Given the description of an element on the screen output the (x, y) to click on. 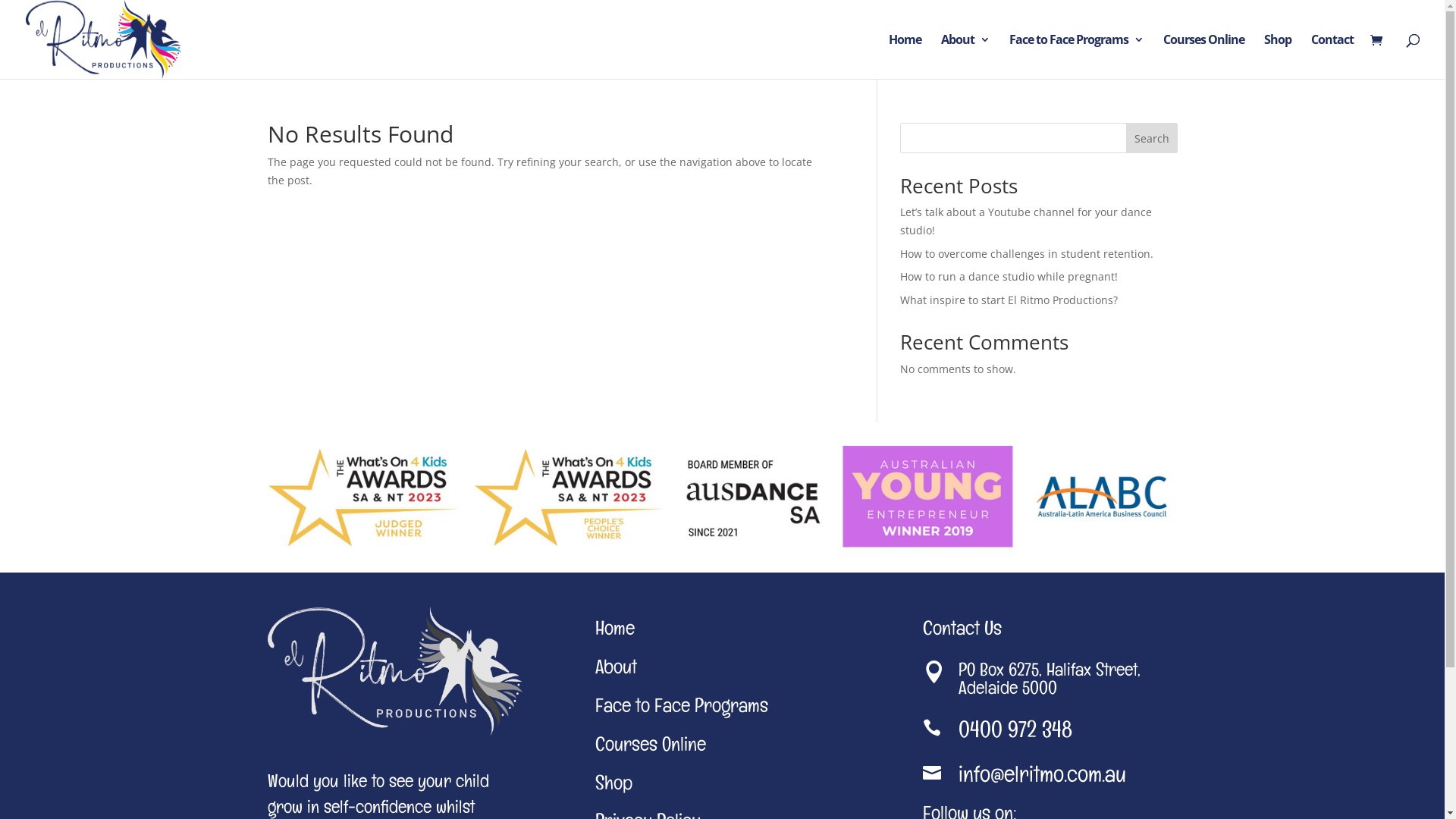
How to run a dance studio while pregnant! Element type: text (1008, 276)
elRitmoLogo-MainLogo-White Transparent Element type: hover (393, 671)
Home Element type: text (904, 56)
logos-footer-mob Element type: hover (721, 497)
What inspire to start El Ritmo Productions?  Element type: text (1009, 299)
About Element type: text (965, 56)
Search Element type: text (1151, 137)
0400 972 348 Element type: text (1015, 733)
Shop Element type: text (1277, 56)
PO Box 6275, Halifax Street, Adelaide 5000 Element type: text (1049, 681)
How to overcome challenges in student retention. Element type: text (1025, 253)
Courses Online Element type: text (1203, 56)
Face to Face Programs Element type: text (1076, 56)
info@elritmo.com.au Element type: text (1042, 778)
Contact Element type: text (1332, 56)
